Given the description of an element on the screen output the (x, y) to click on. 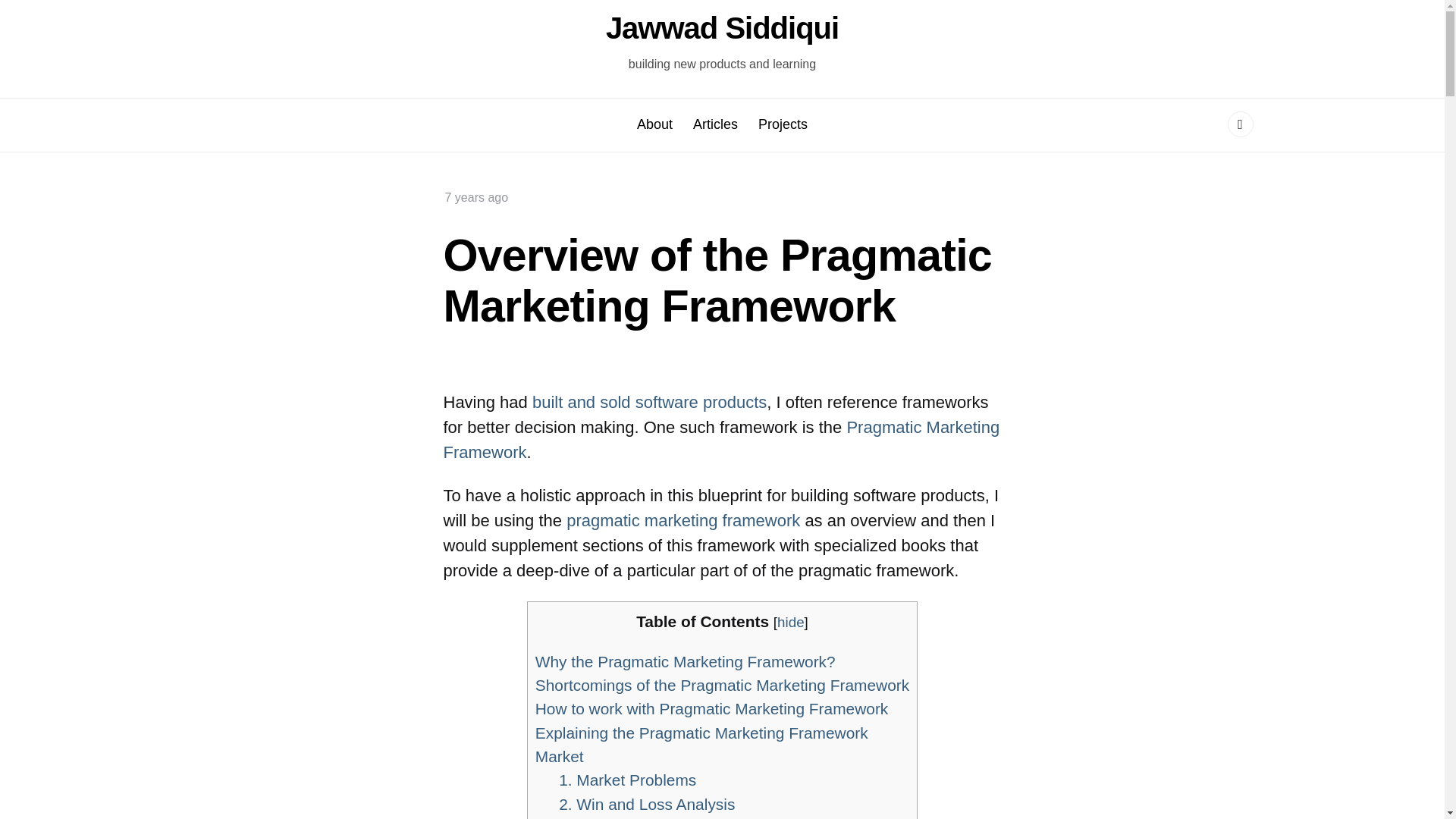
hide (791, 621)
Jawwad Siddiqui (721, 28)
Projects (782, 124)
built and sold software products (649, 402)
2. Win and Loss Analysis (647, 804)
Shortcomings of the Pragmatic Marketing Framework (721, 684)
Pragmatic Marketing Framework (720, 439)
1. Market Problems (627, 779)
pragmatic marketing framework (682, 520)
How to work with Pragmatic Marketing Framework (711, 708)
